Given the description of an element on the screen output the (x, y) to click on. 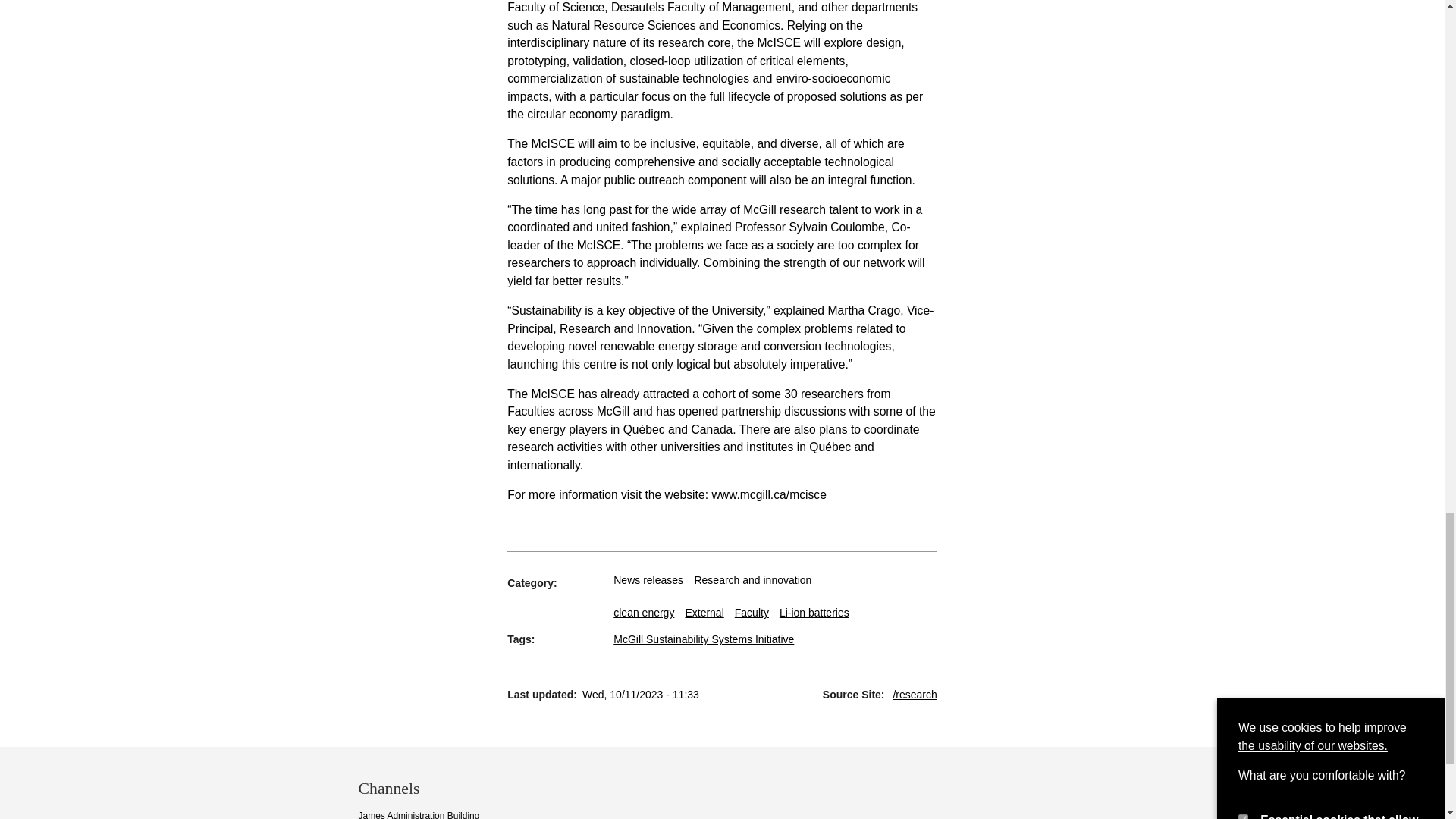
Li-ion batteries (813, 612)
clean energy (643, 612)
Faculty (751, 612)
McGill Sustainability Systems Initiative (702, 639)
News releases (647, 580)
External (703, 612)
Research and innovation (752, 580)
